Given the description of an element on the screen output the (x, y) to click on. 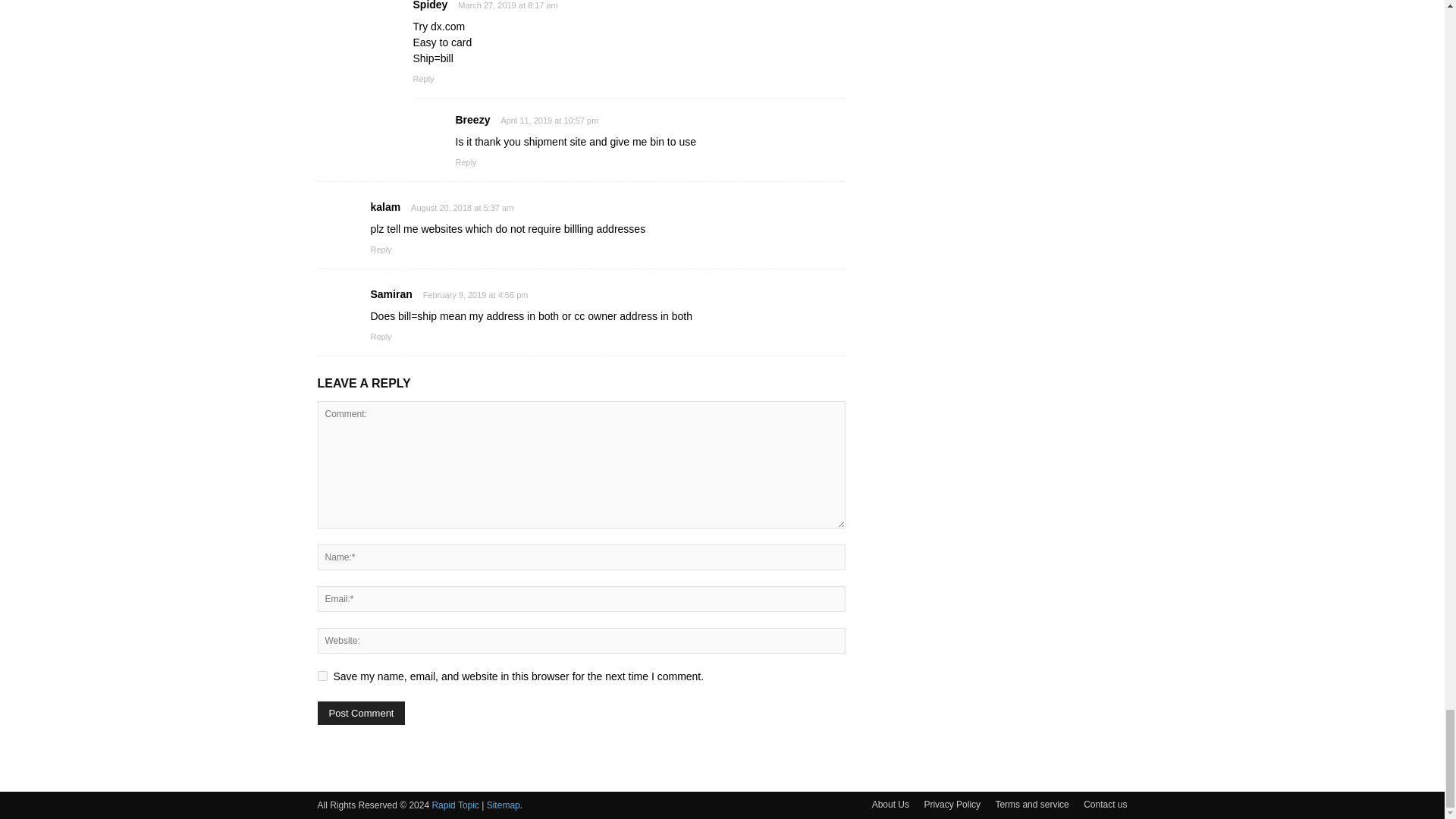
Post Comment (360, 712)
yes (321, 675)
